Given the description of an element on the screen output the (x, y) to click on. 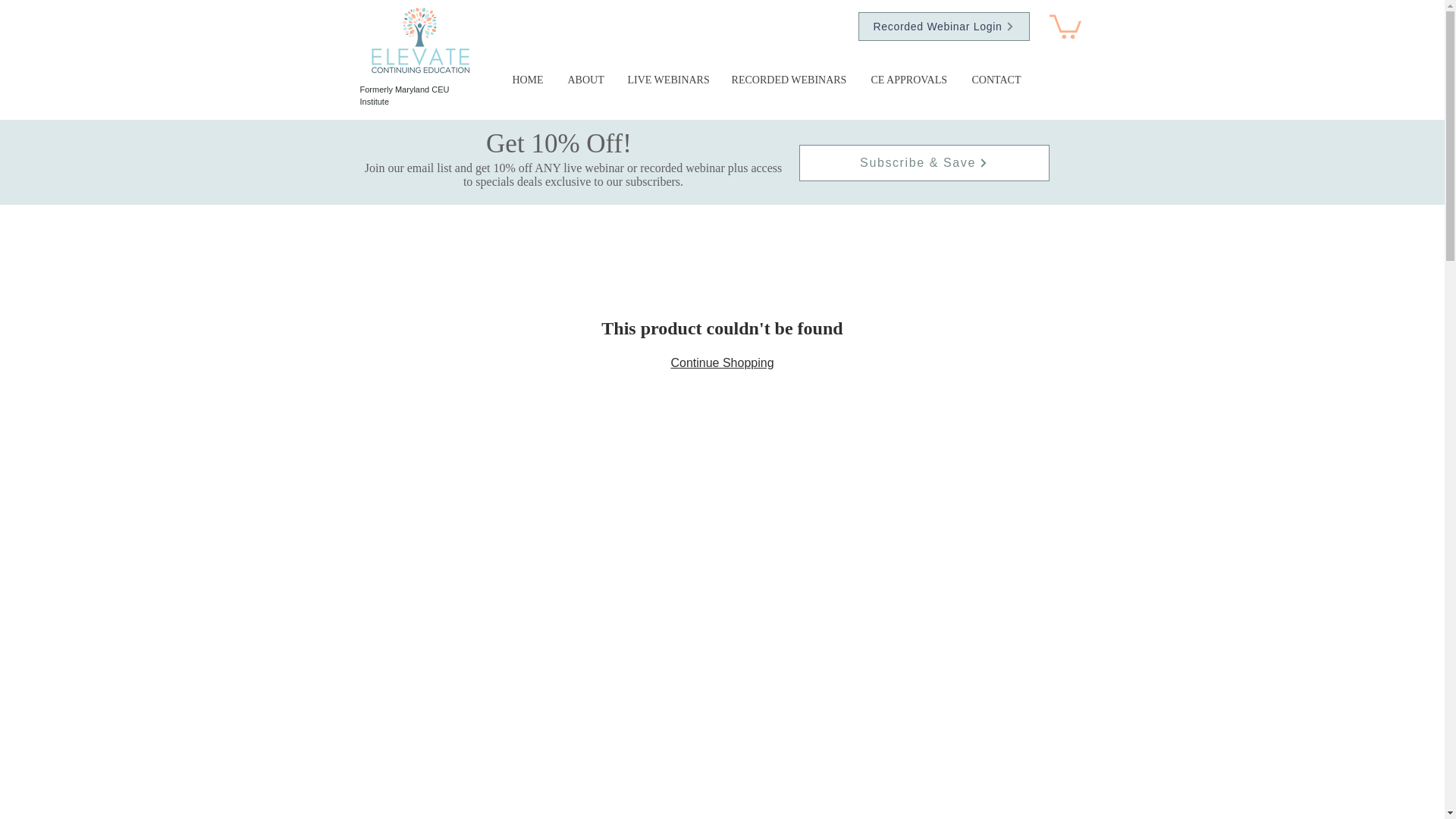
HOME (526, 80)
ABOUT (584, 80)
LIVE WEBINARS (667, 80)
RECORDED WEBINARS (789, 80)
Continue Shopping (721, 362)
CONTACT (995, 80)
Recorded Webinar Login (944, 26)
CE APPROVALS (908, 80)
